Given the description of an element on the screen output the (x, y) to click on. 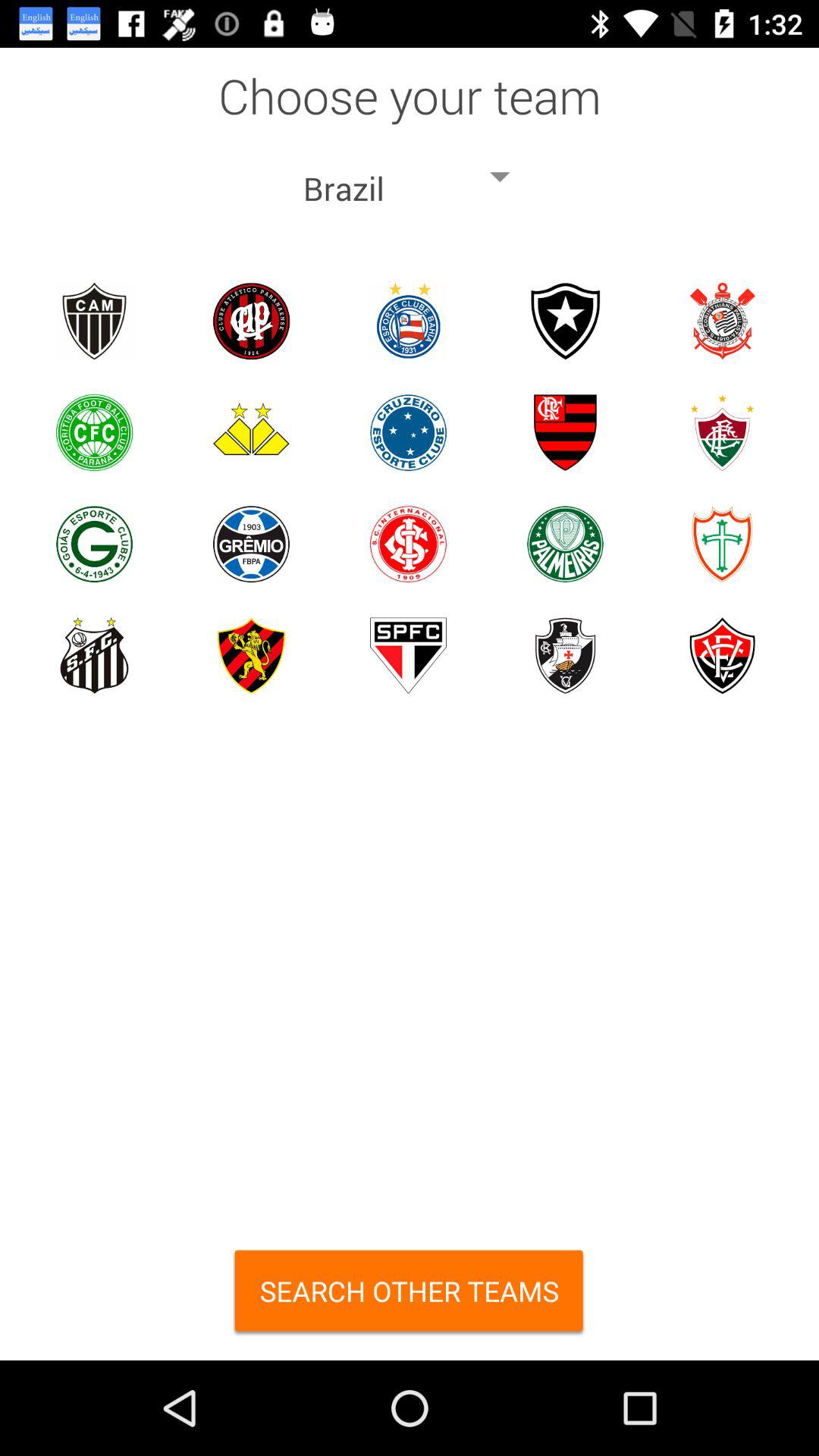
choose logo (565, 321)
